Given the description of an element on the screen output the (x, y) to click on. 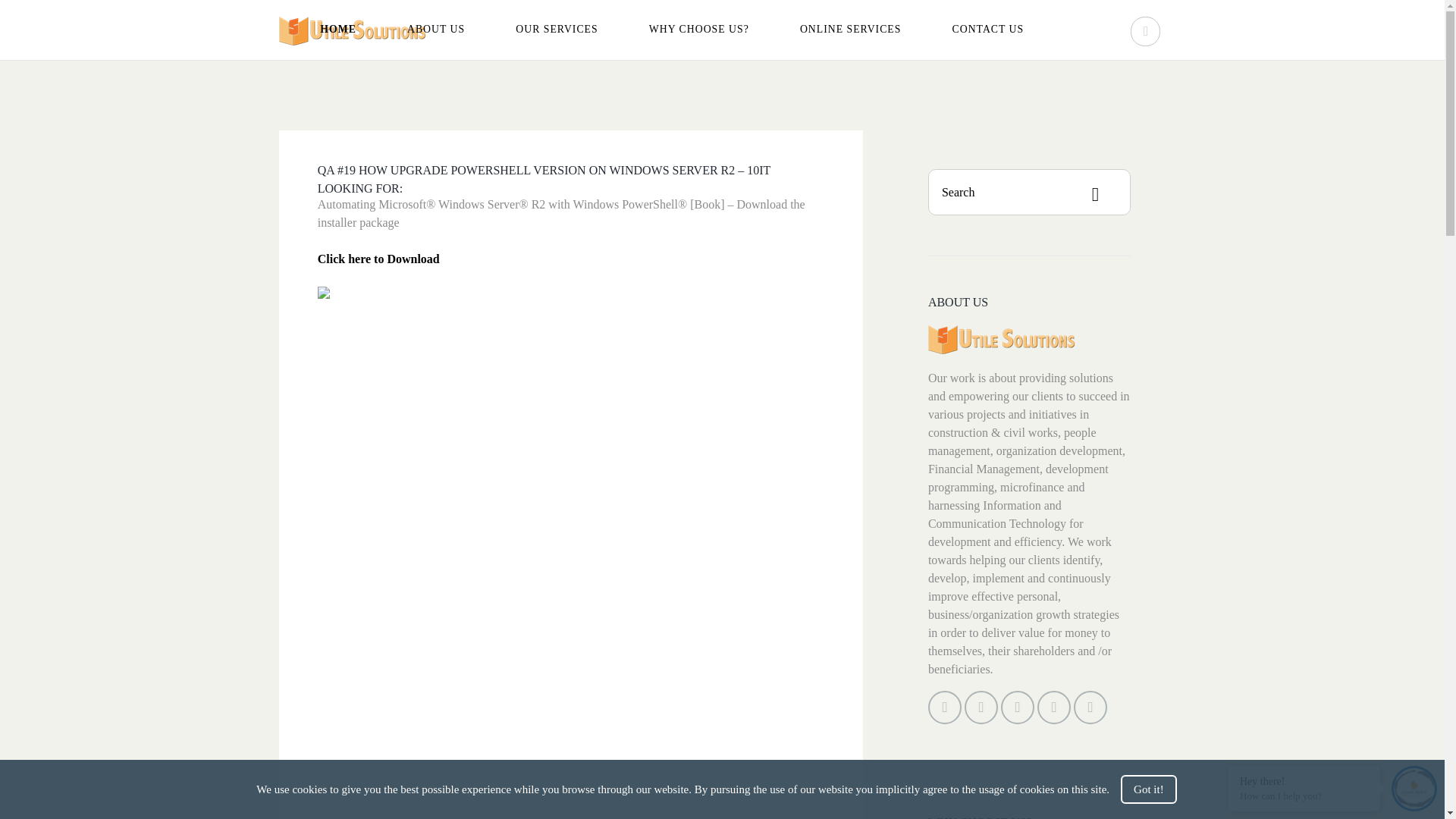
Hey there! (1304, 780)
OUR SERVICES (555, 29)
ABOUT US (435, 29)
WHY CHOOSE US? (699, 29)
CONTACT US (988, 29)
HOME (338, 29)
Search for: (1029, 191)
ONLINE SERVICES (850, 29)
How can I help you? (1304, 796)
